Given the description of an element on the screen output the (x, y) to click on. 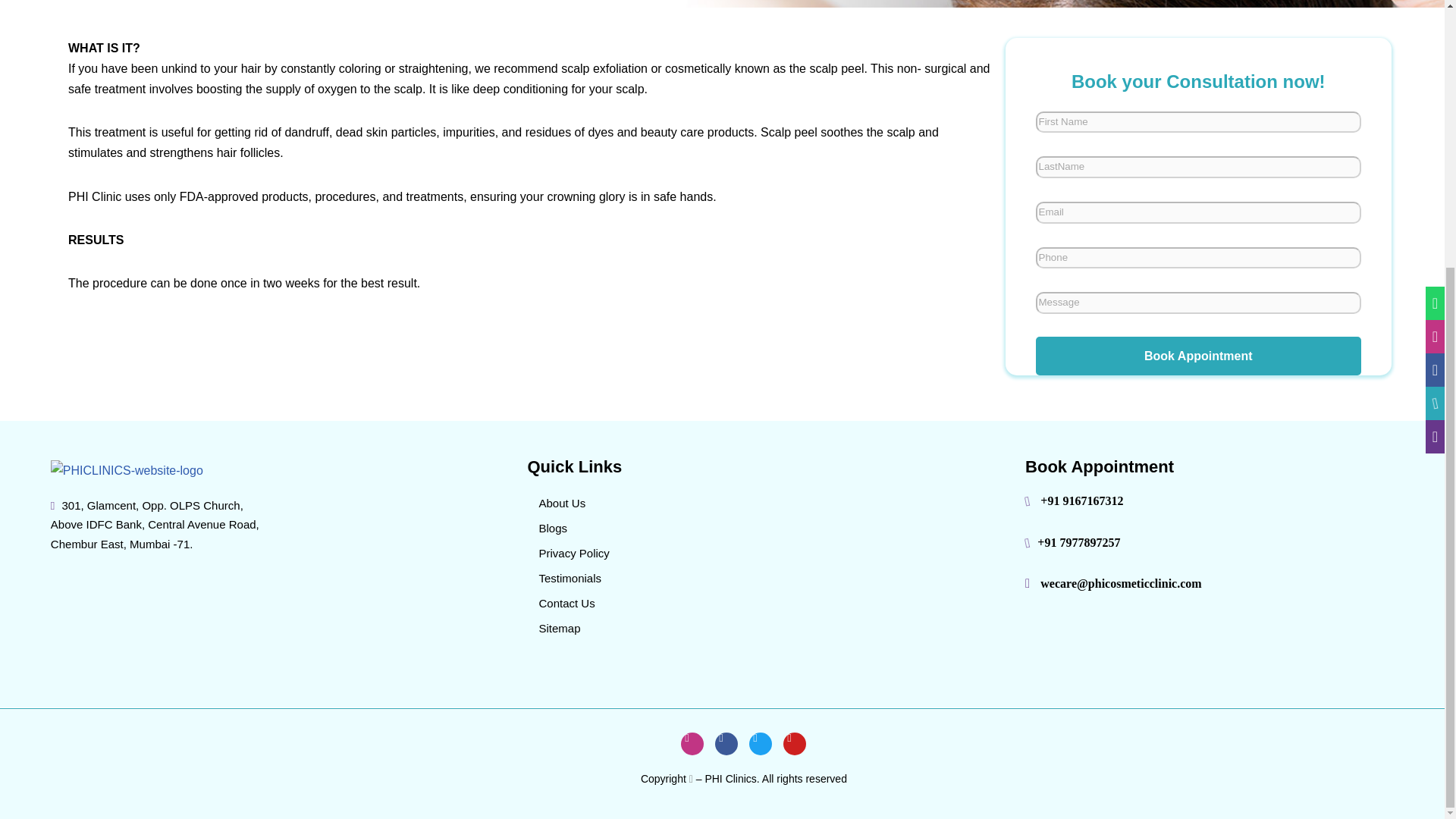
phi skin and hair  (1148, 646)
PHICLINICS-website-logo (126, 470)
Book Appointment (1198, 355)
